Given the description of an element on the screen output the (x, y) to click on. 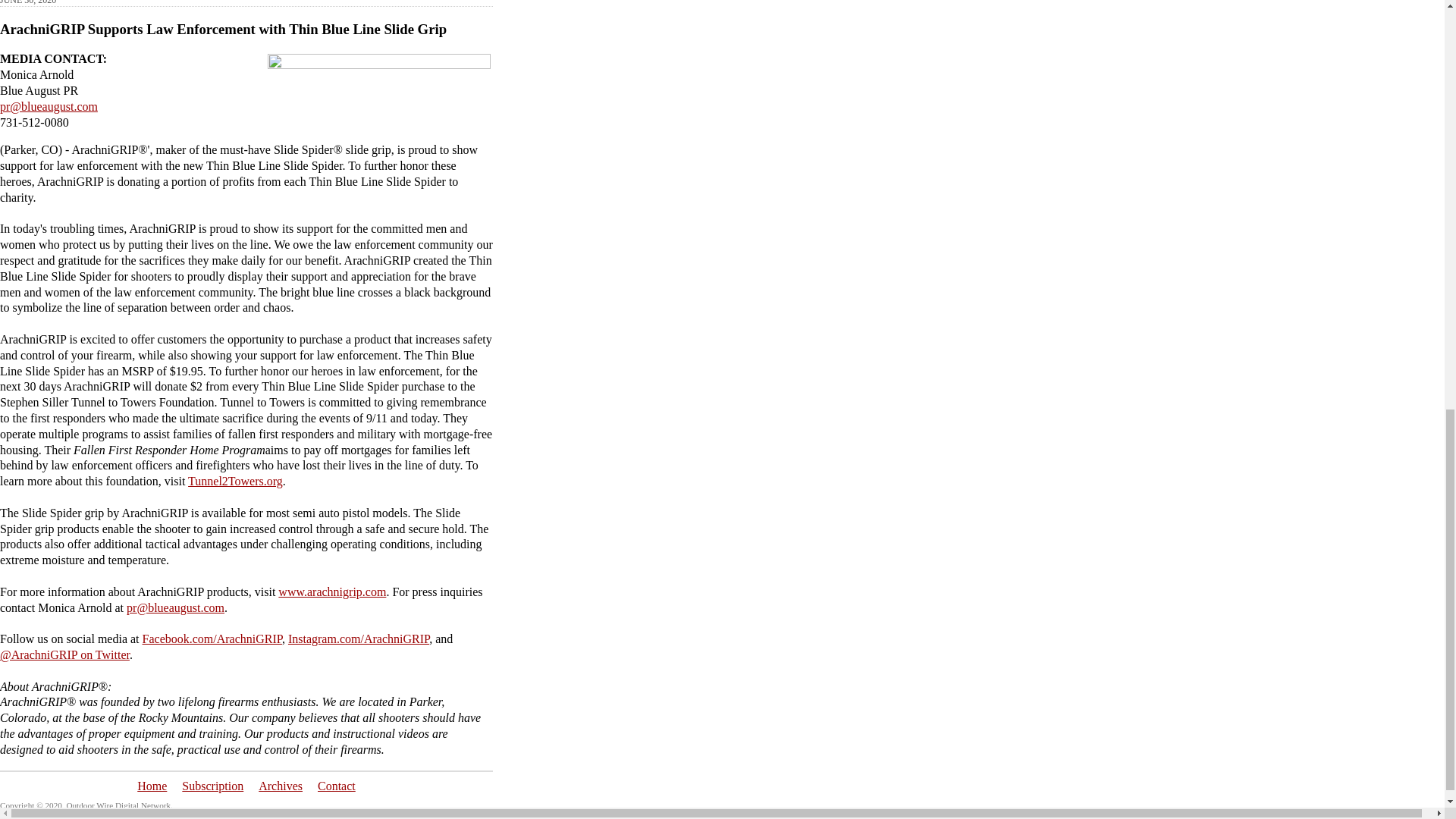
www.arachnigrip.com (331, 591)
Tunnel2Towers.org (234, 481)
Archives (280, 784)
Home (151, 784)
Subscription (212, 784)
Contact (336, 784)
